Given the description of an element on the screen output the (x, y) to click on. 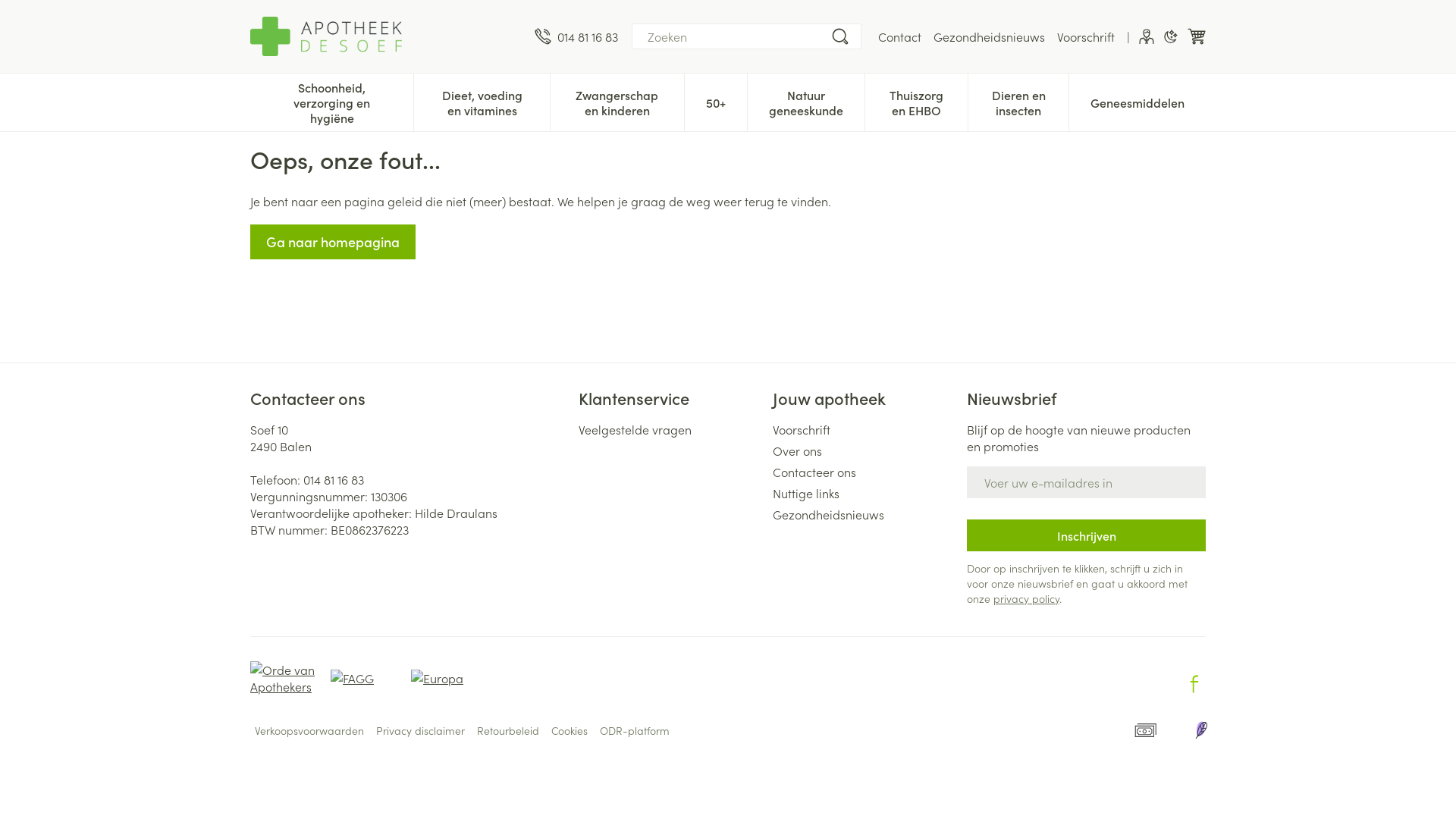
50+ Element type: text (715, 100)
Apotheek De Soef Element type: hover (325, 36)
Cookies Element type: text (569, 729)
Over ons Element type: text (863, 450)
Zwangerschap en kinderen Element type: text (617, 100)
Nuttige links Element type: text (863, 492)
Contacteer ons Element type: text (863, 471)
Donkere modus Element type: text (1170, 35)
Gezondheidsnieuws Element type: text (988, 36)
privacy policy Element type: text (1026, 597)
014 81 16 83 Element type: text (576, 36)
Retourbeleid Element type: text (507, 729)
Verkoopsvoorwaarden Element type: text (309, 729)
Natuur geneeskunde Element type: text (805, 100)
Facebook Element type: hover (1194, 683)
Dieren en insecten Element type: text (1018, 100)
Gezondheidsnieuws Element type: text (863, 513)
Inschrijven Element type: text (1085, 535)
014 81 16 83 Element type: text (333, 478)
Voorschrift Element type: text (1085, 36)
Contact Element type: text (899, 36)
Zoeken Element type: text (840, 36)
Dieet, voeding en vitamines Element type: text (481, 100)
Ga naar homepagina Element type: text (332, 241)
Winkelwagen Element type: text (1196, 36)
ODR-platform Element type: text (634, 729)
Voorschrift Element type: text (863, 428)
Geneesmiddelen Element type: text (1137, 100)
Klant menu Element type: text (1146, 35)
Veelgestelde vragen Element type: text (669, 428)
Privacy disclaimer Element type: text (420, 729)
Apotheek De Soef Element type: hover (386, 36)
Thuiszorg en EHBO Element type: text (916, 100)
